Given the description of an element on the screen output the (x, y) to click on. 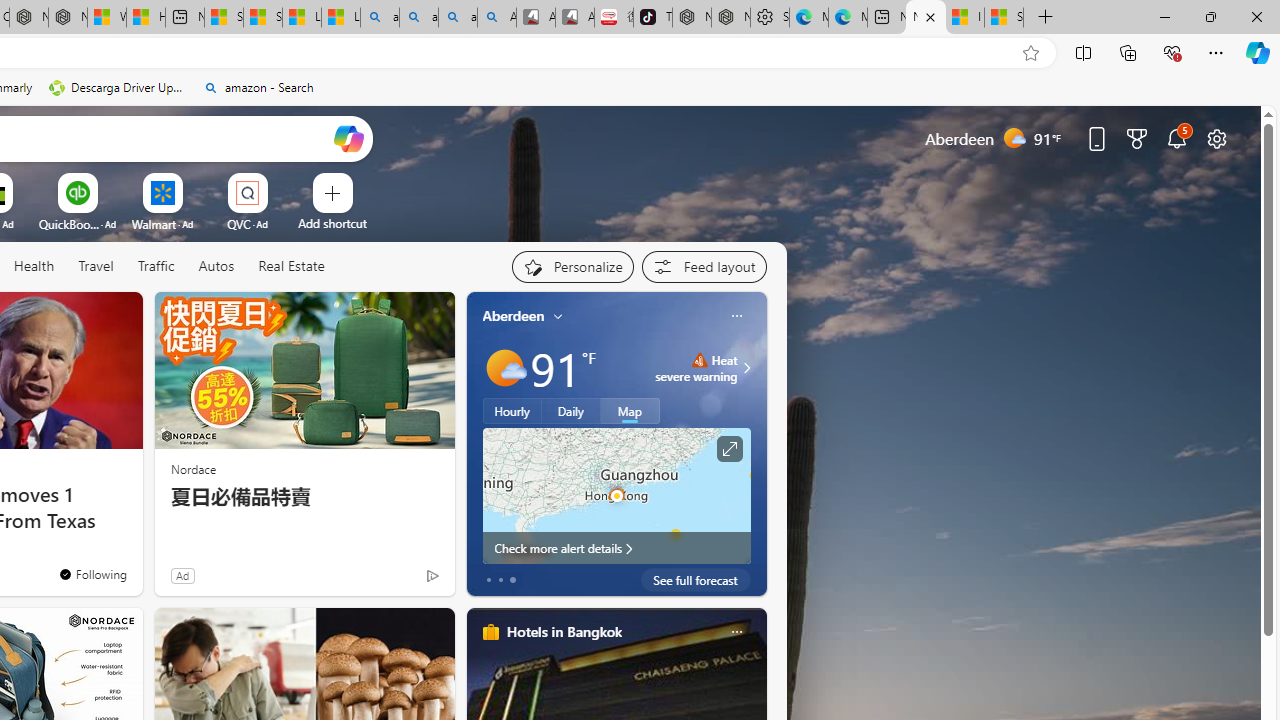
You're following FOX News (390, 579)
Mostly sunny (504, 368)
Nordace Siena Pro 15 Backpack (730, 17)
